Given the description of an element on the screen output the (x, y) to click on. 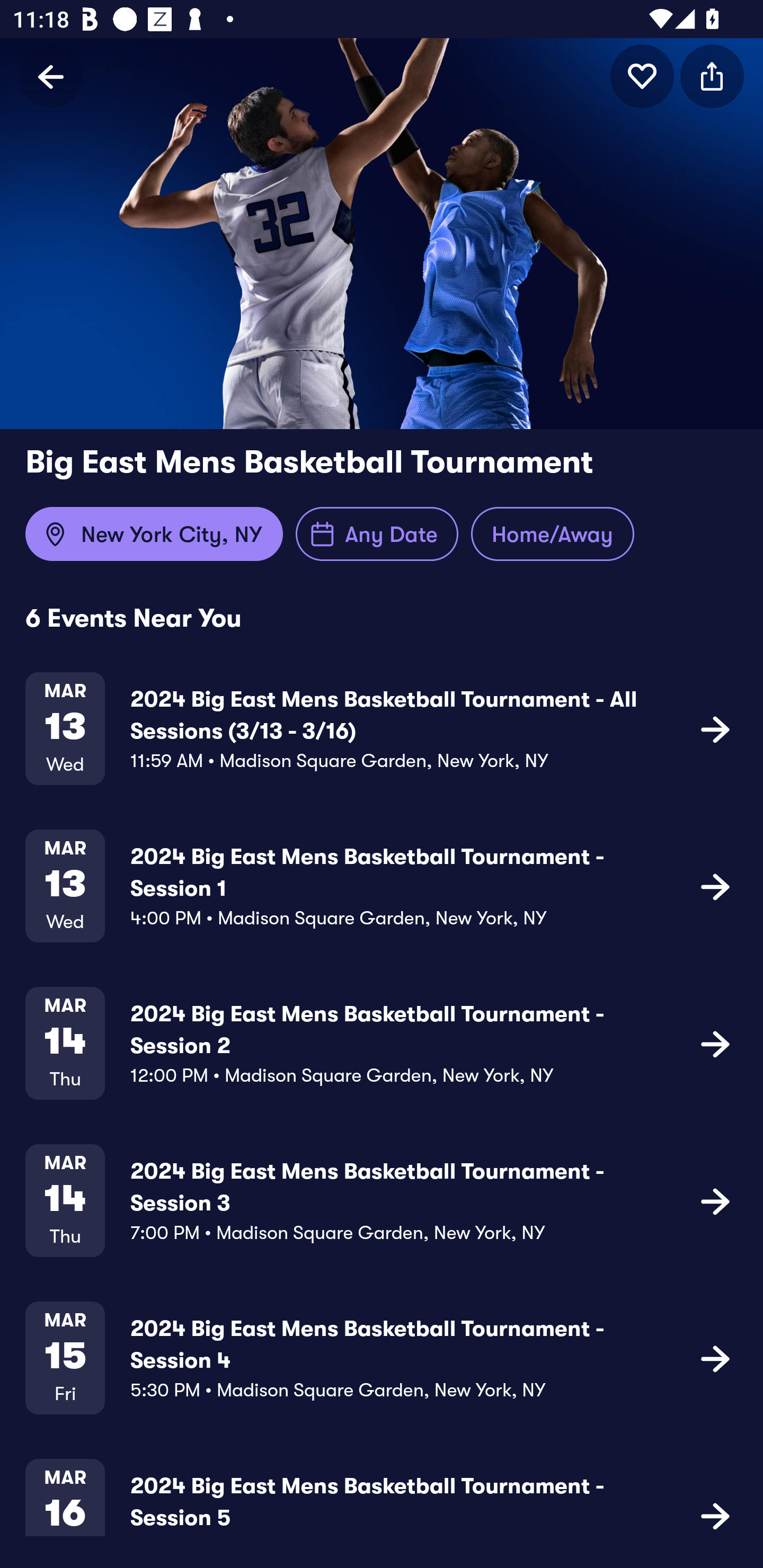
Back (50, 75)
icon button (641, 75)
icon button (711, 75)
New York City, NY (153, 533)
Any Date (377, 533)
Home/Away (552, 533)
icon button (714, 729)
icon button (714, 885)
icon button (714, 1043)
icon button (714, 1201)
icon button (714, 1357)
icon button (714, 1514)
